Given the description of an element on the screen output the (x, y) to click on. 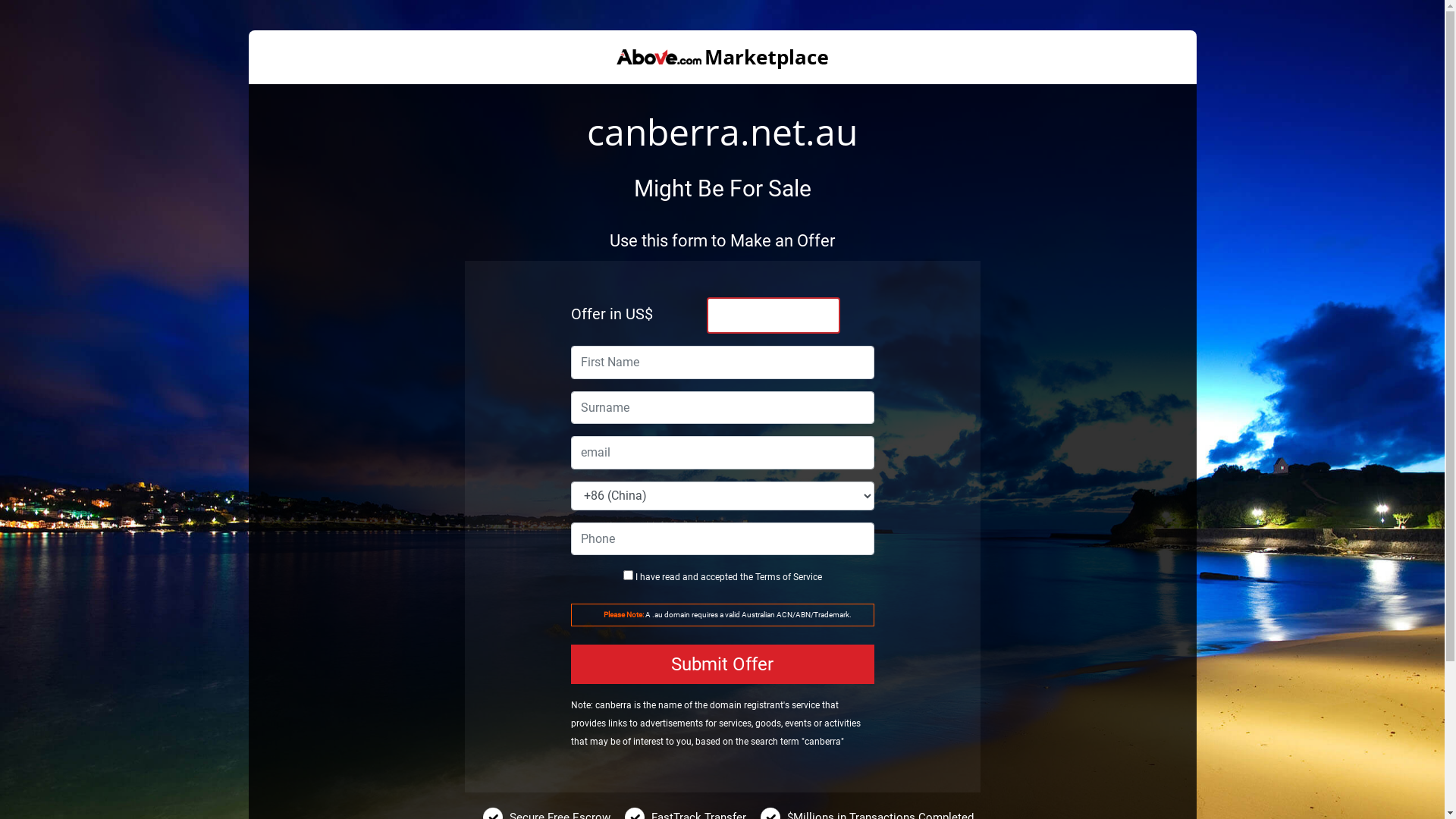
Terms Element type: text (767, 576)
Submit Offer Element type: text (721, 664)
